Given the description of an element on the screen output the (x, y) to click on. 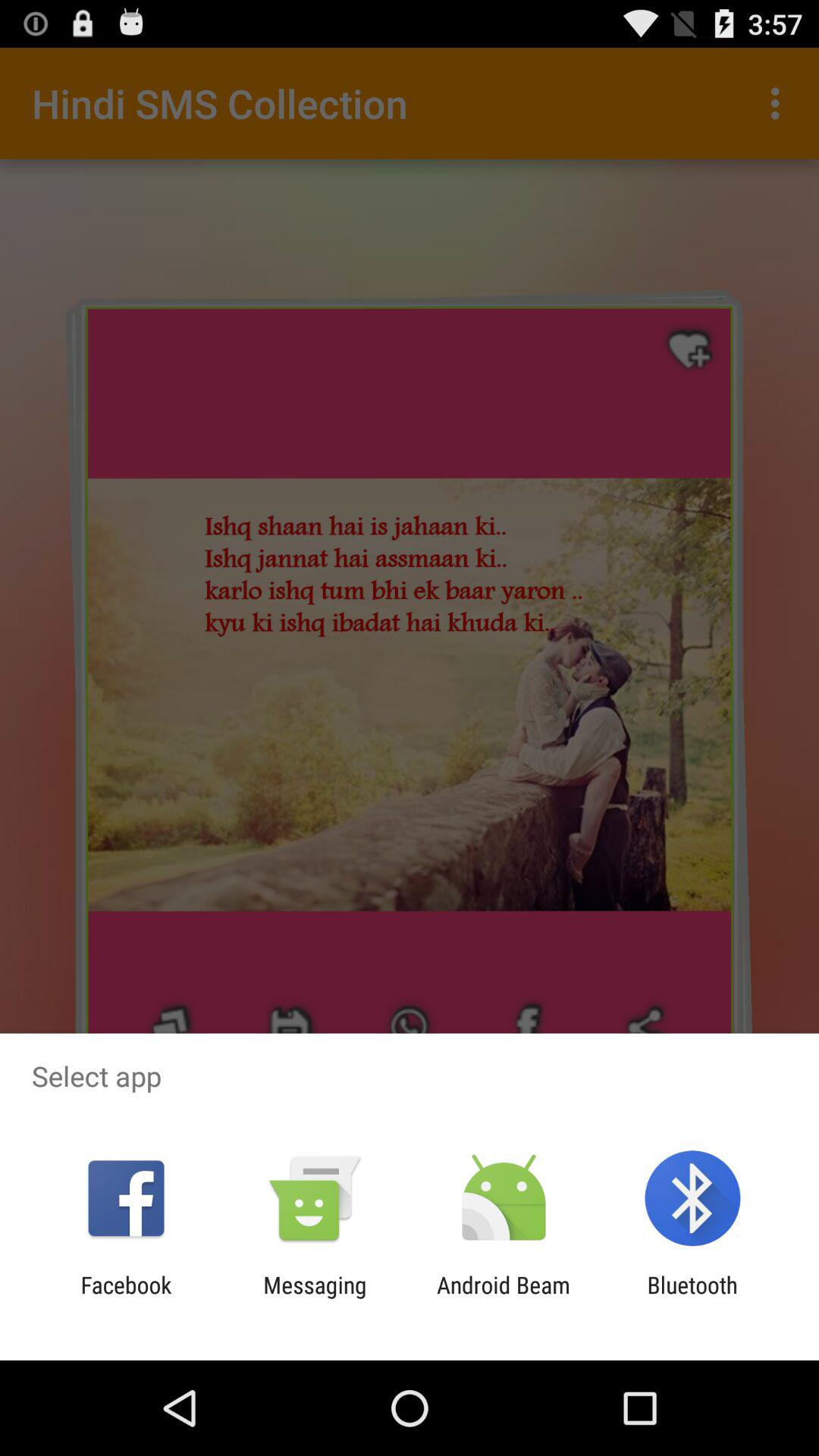
press the app next to the messaging app (503, 1298)
